Given the description of an element on the screen output the (x, y) to click on. 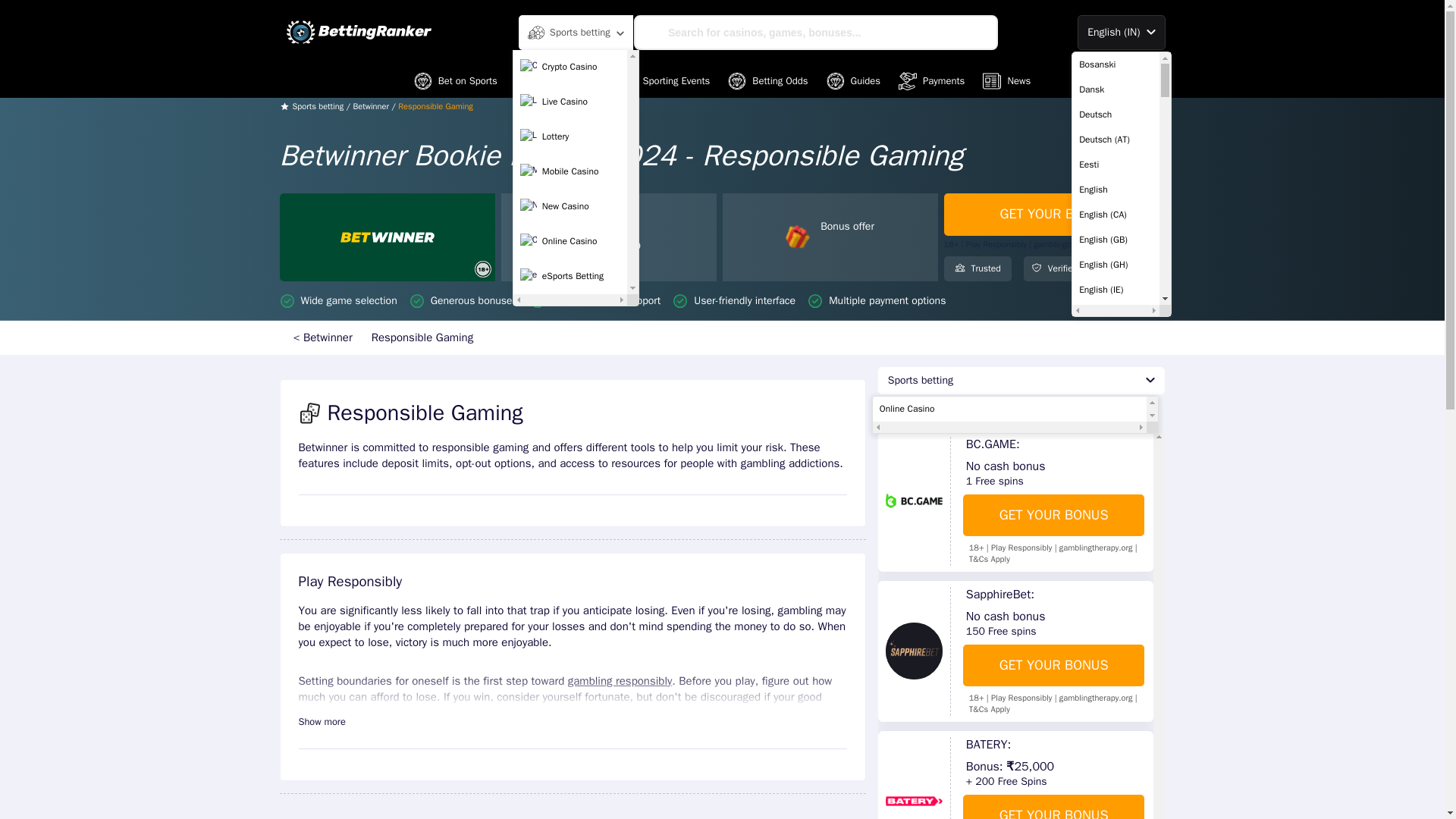
English (1115, 189)
Dansk (1115, 89)
Bosanski (1115, 63)
Eesti (1115, 163)
Lottery (570, 136)
Live Casino (570, 102)
eSports Betting (570, 276)
Deutsch (1115, 113)
Crypto Casino (570, 67)
